Given the description of an element on the screen output the (x, y) to click on. 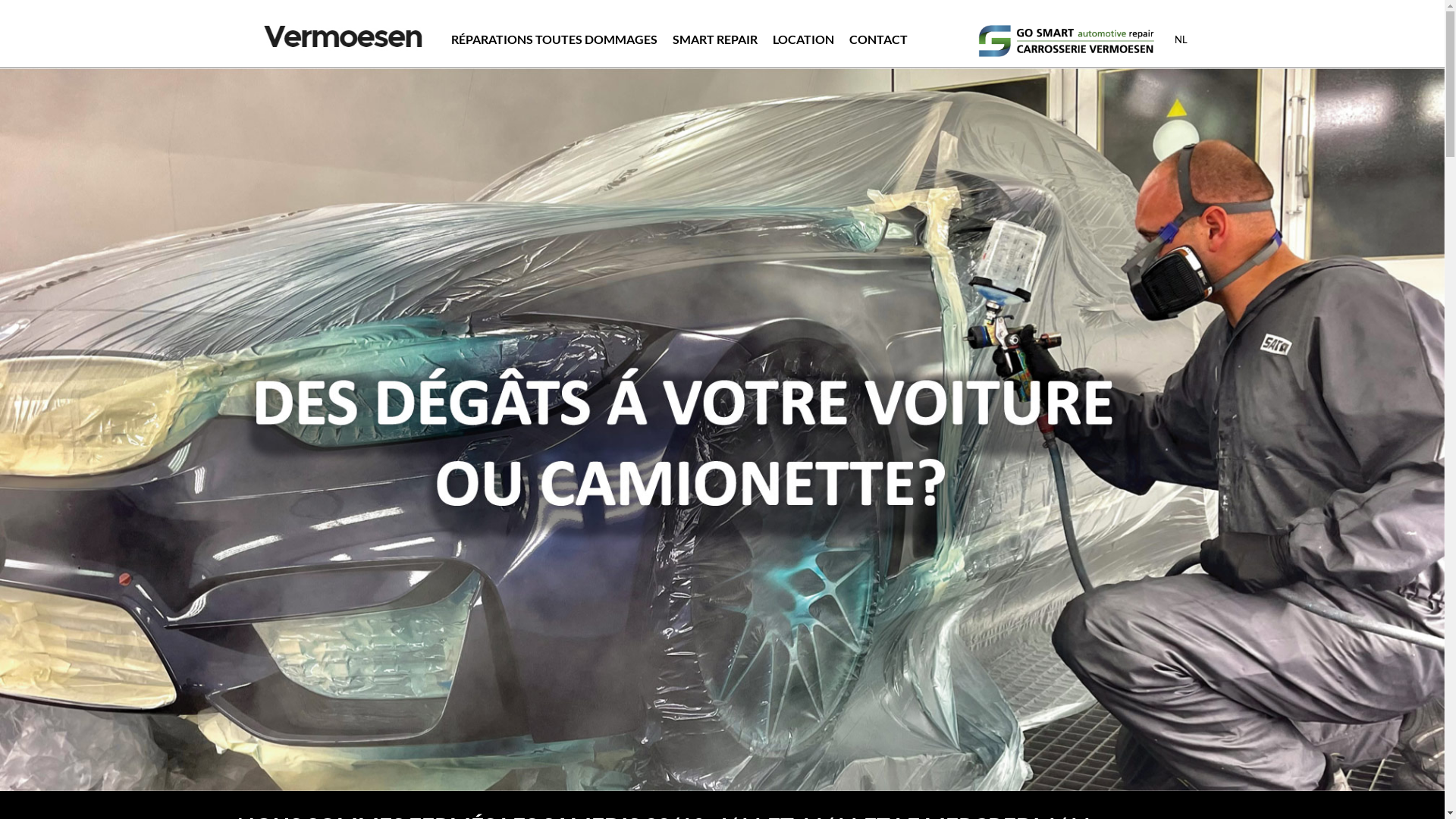
CONTACT Element type: text (878, 39)
NL Element type: text (1180, 39)
SMART REPAIR Element type: text (713, 39)
LOCATION Element type: text (802, 39)
